Given the description of an element on the screen output the (x, y) to click on. 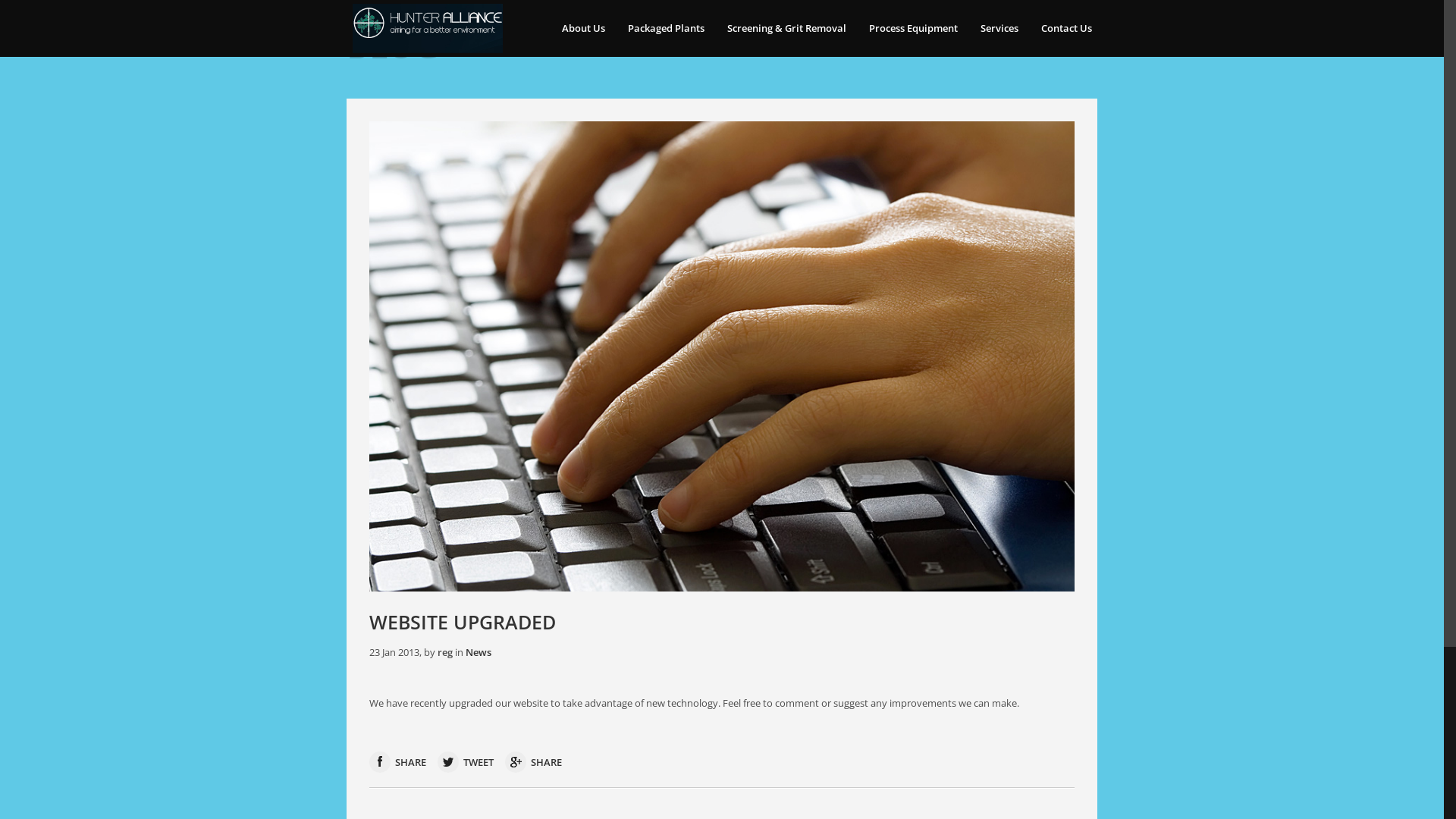
SHARE Element type: text (397, 761)
Services Element type: text (999, 28)
SHARE Element type: text (533, 761)
Process Equipment Element type: text (913, 28)
About Us Element type: text (583, 28)
News Element type: text (478, 651)
Packaged Plants Element type: text (665, 28)
Screening & Grit Removal Element type: text (786, 28)
Contact Us Element type: text (1066, 28)
TWEET Element type: text (465, 761)
